Given the description of an element on the screen output the (x, y) to click on. 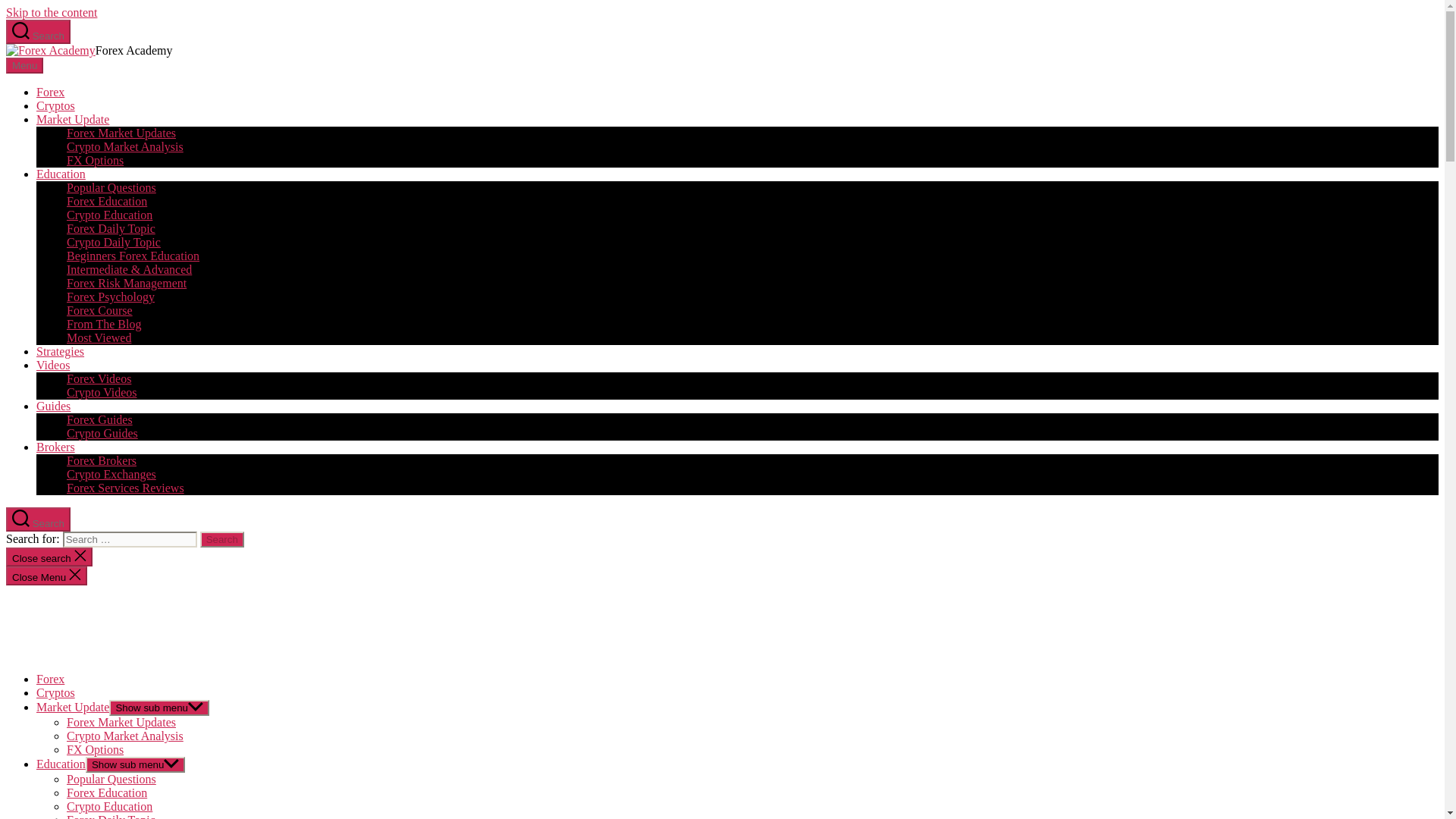
Crypto Market Analysis (124, 146)
Market Update (72, 119)
Crypto Guides (102, 432)
Forex Daily Topic (110, 228)
From The Blog (103, 323)
Close Menu (46, 575)
Cryptos (55, 105)
Search (37, 518)
Education (60, 173)
Forex Brokers (101, 460)
